Given the description of an element on the screen output the (x, y) to click on. 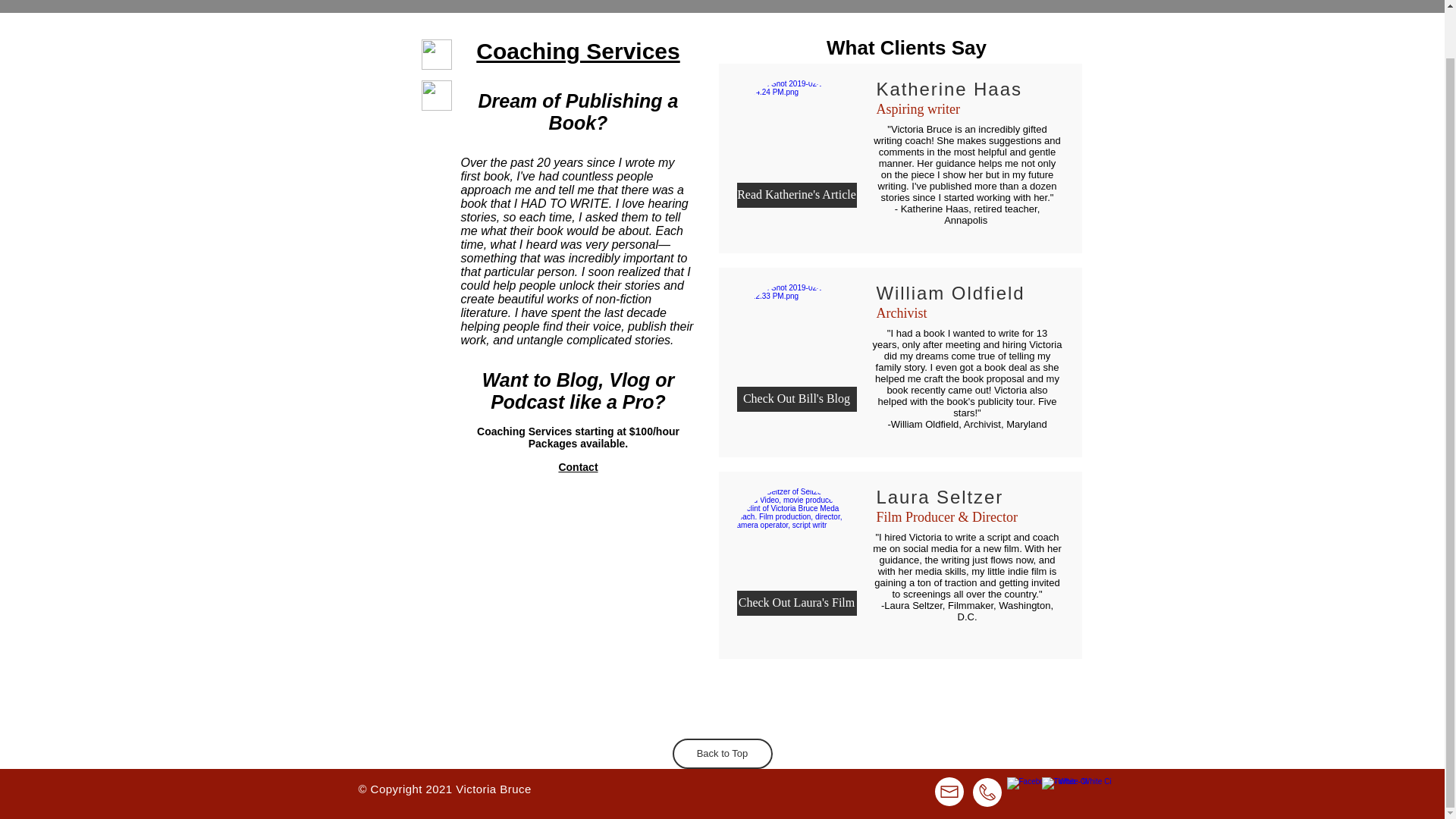
Check Out Laura's Film (796, 602)
Read Katherine's Article (796, 195)
Coaching Services (577, 50)
Check Out Bill's Blog (796, 398)
